Given the description of an element on the screen output the (x, y) to click on. 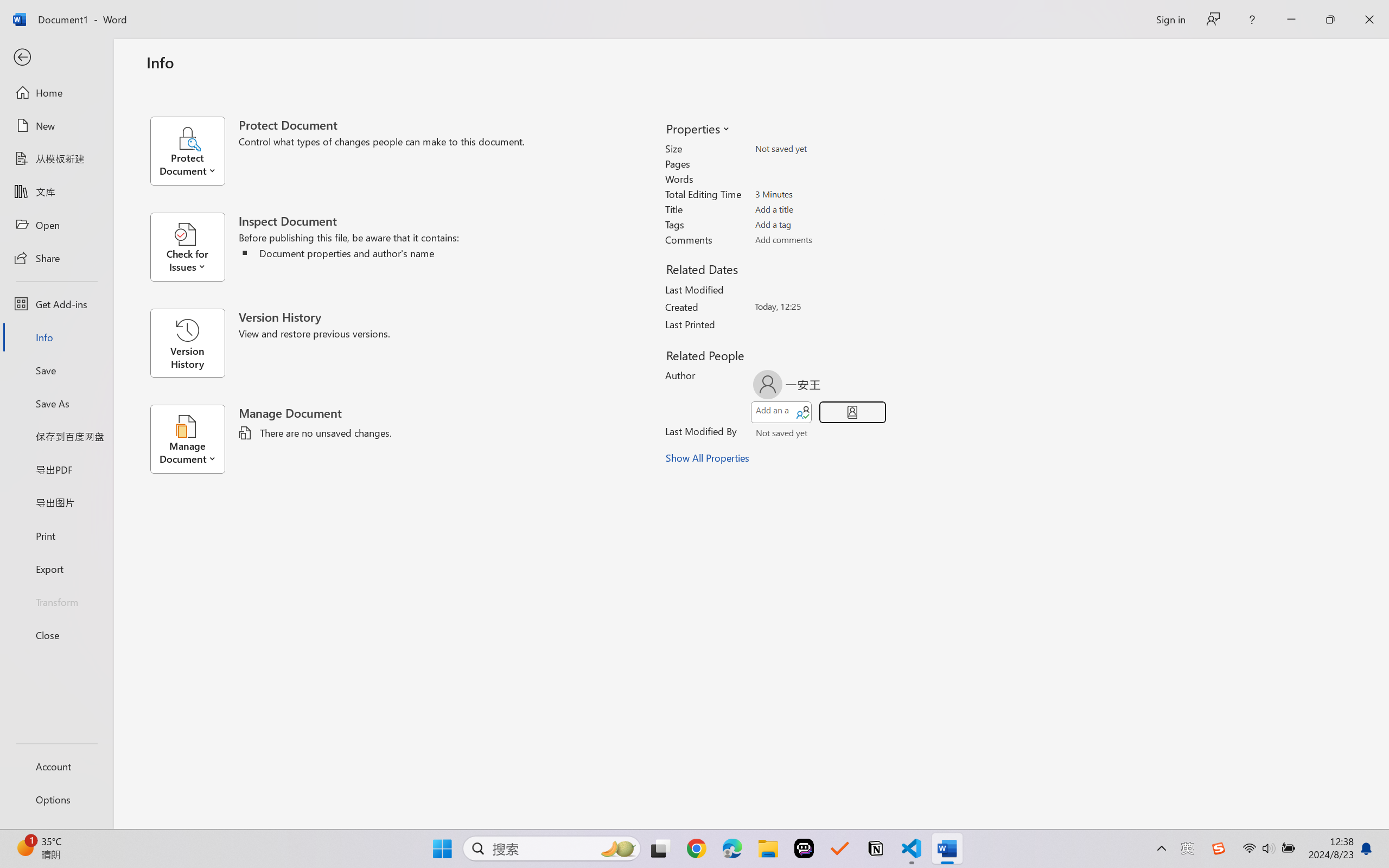
Words (818, 178)
Tags (818, 223)
Export (56, 568)
Print (56, 535)
Check for Issues (194, 246)
Verify Names (802, 434)
Add an author (772, 411)
Account (56, 765)
